Given the description of an element on the screen output the (x, y) to click on. 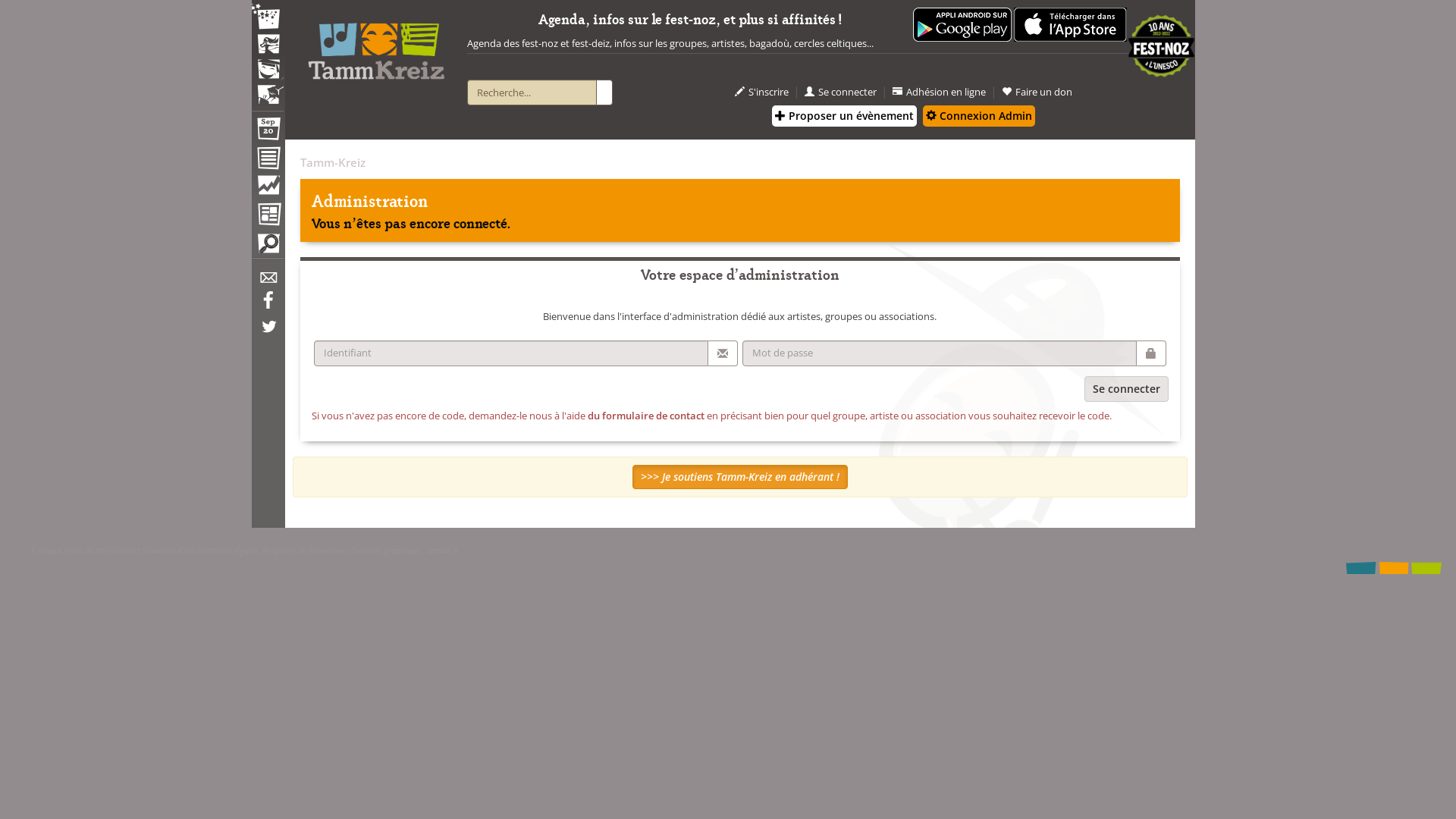
CGU Element type: text (186, 549)
Formation Element type: text (267, 73)
A propos Element type: text (46, 549)
Tamm-Kreiz Element type: text (332, 161)
Facebook Element type: text (267, 305)
Accueil - Tamm Kreiz Element type: hover (376, 45)
S'inscrire Element type: text (761, 91)
Concerts Element type: text (267, 45)
Connexion Admin Element type: text (978, 115)
Contact Element type: text (267, 281)
Faire un don Element type: text (1036, 91)
Annuaire Element type: text (267, 160)
Plan du site Element type: text (86, 549)
Festnoz Element type: text (267, 17)
Twitter Element type: text (267, 334)
Contact Element type: text (126, 549)
Se connecter Element type: text (1126, 388)
Magazine Element type: text (267, 215)
Agenda Element type: text (267, 131)
du formulaire de contact Element type: text (644, 415)
Ensembles traditionnels Element type: text (267, 88)
Petites annonces Element type: text (267, 246)
Observatoire Element type: text (267, 188)
Soutiens Element type: text (159, 549)
Se connecter Element type: text (840, 91)
